Given the description of an element on the screen output the (x, y) to click on. 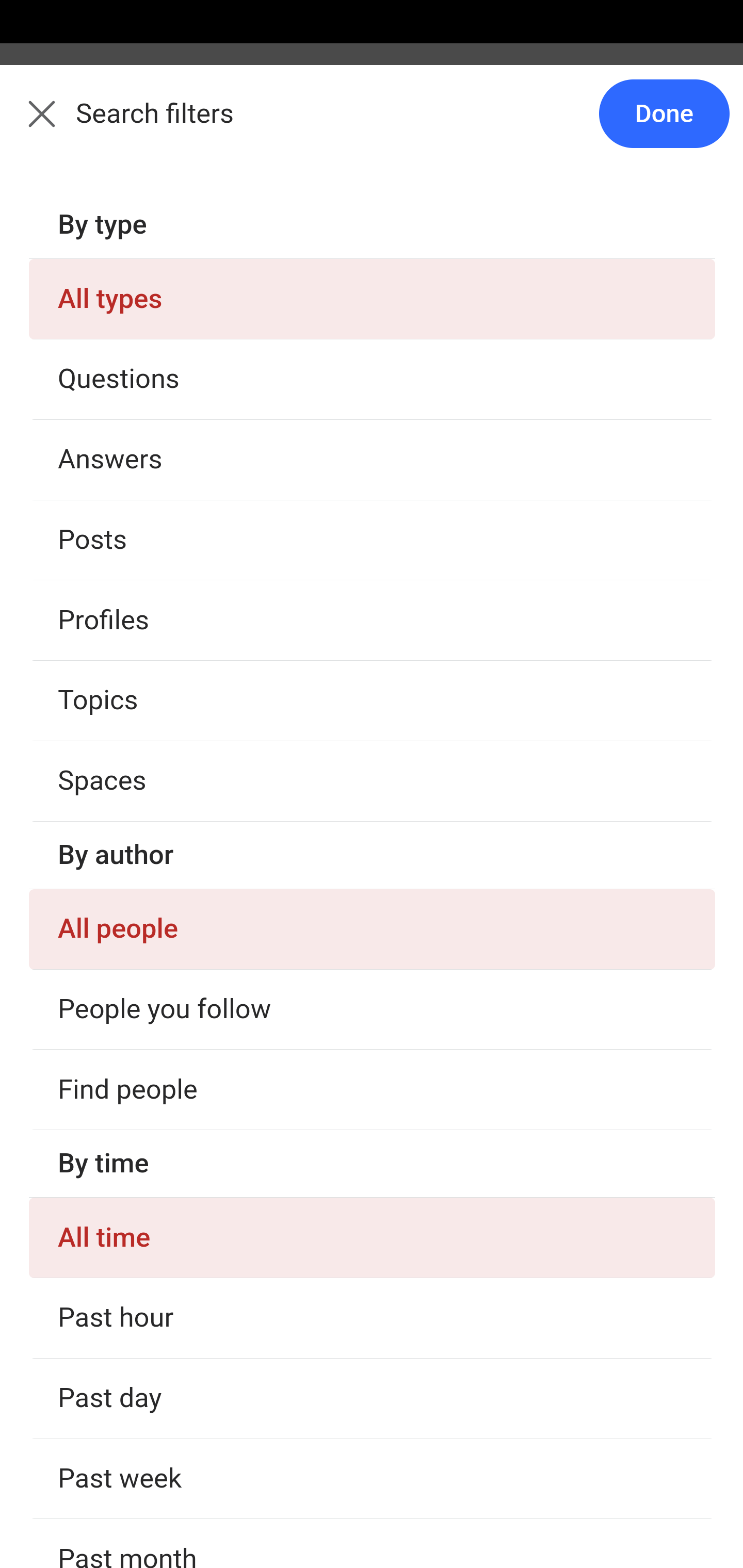
Back Search (371, 125)
Answer (125, 387)
Answer (125, 784)
Answer (125, 1179)
Answer (125, 1378)
